Given the description of an element on the screen output the (x, y) to click on. 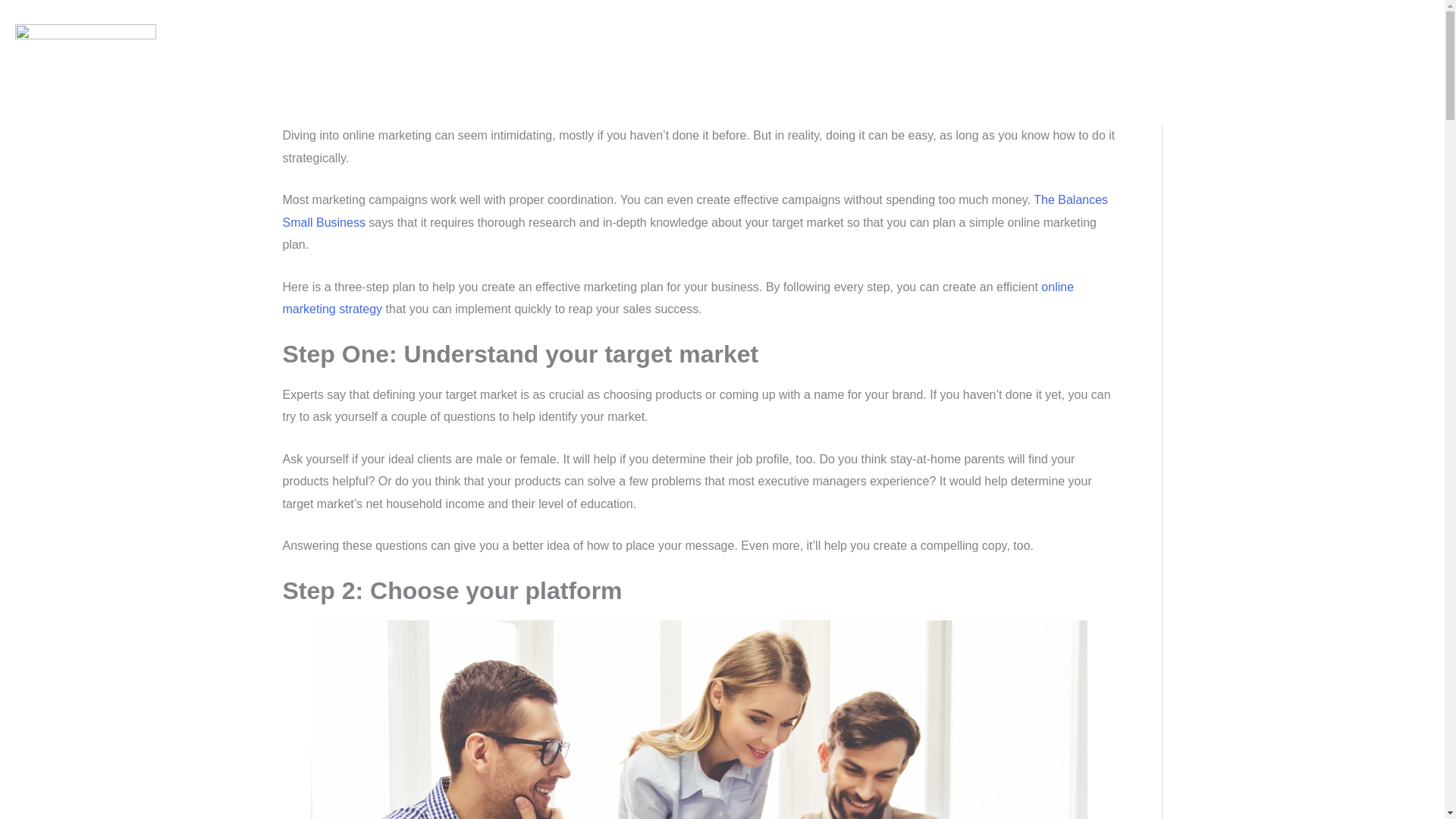
INTERNET NEWS (1217, 67)
The Balances Small Business  (695, 211)
online marketing strategy (678, 298)
SOFTWARE AND APPS (1353, 67)
